Given the description of an element on the screen output the (x, y) to click on. 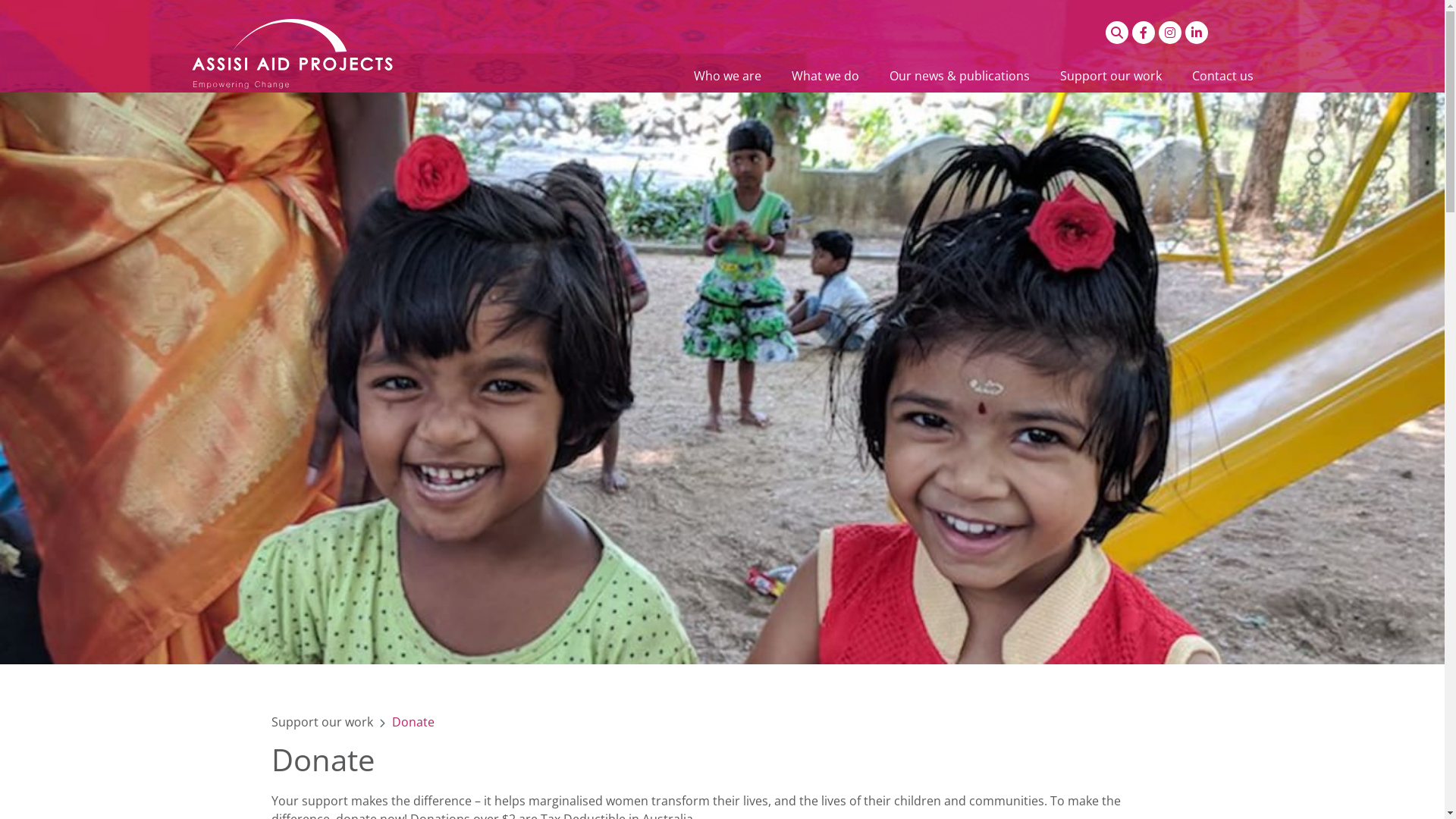
What we do Element type: text (825, 75)
Search Element type: text (1116, 32)
Donate Element type: text (412, 721)
Contact us Element type: text (1222, 75)
Facebook Element type: text (1142, 32)
LinkedIn Element type: text (1195, 32)
Who we are Element type: text (726, 75)
Our news & publications Element type: text (958, 75)
Assisi Aid Projects Element type: text (291, 53)
Support our work Element type: text (1110, 75)
Instagram Element type: text (1169, 32)
